Given the description of an element on the screen output the (x, y) to click on. 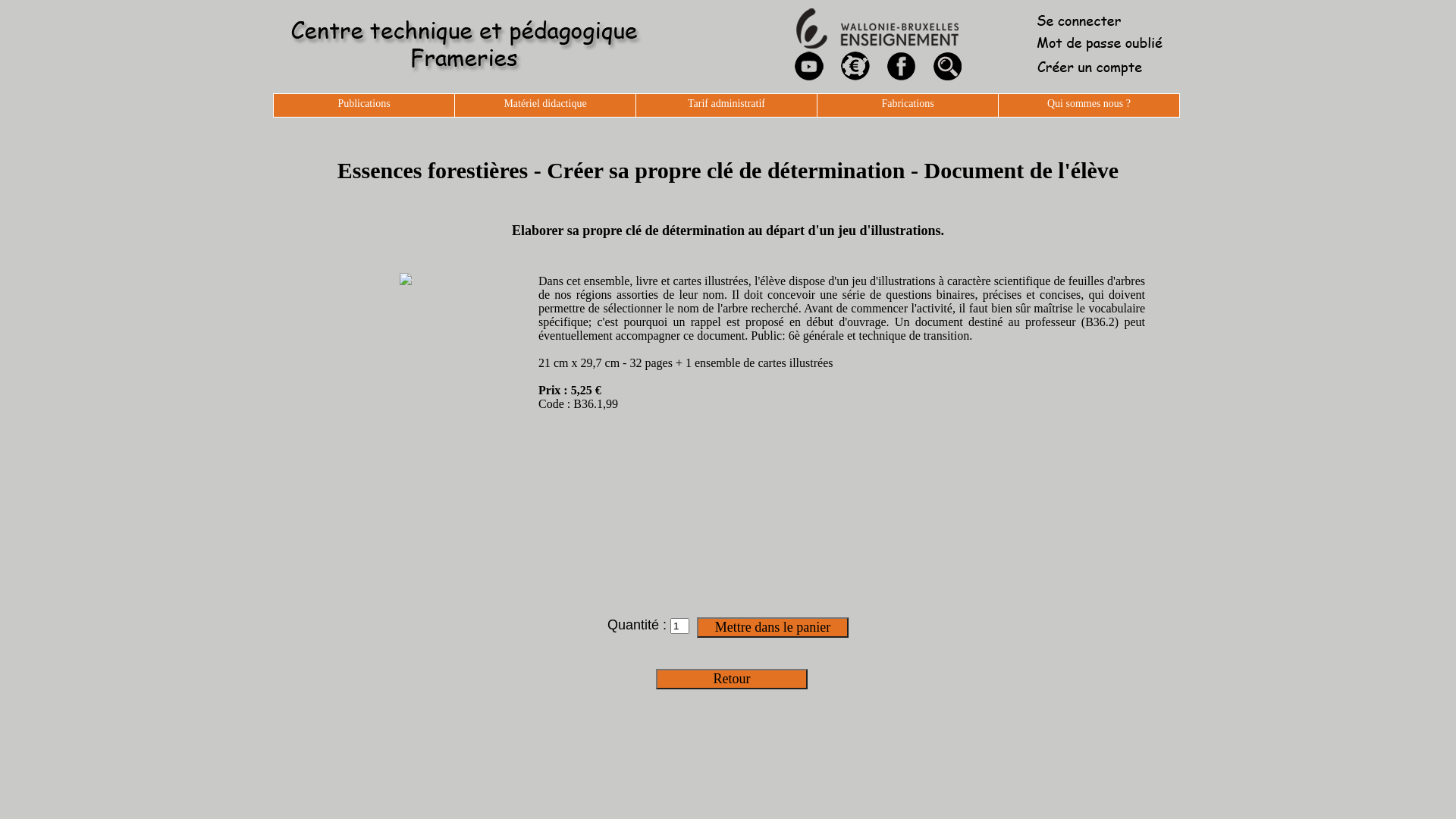
Tarif administratif Element type: text (726, 105)
Publications Element type: text (364, 105)
Fabrications Element type: text (907, 105)
Retour Element type: text (731, 678)
Qui sommes nous ? Element type: text (1088, 105)
Mettre dans le panier Element type: text (772, 627)
